Given the description of an element on the screen output the (x, y) to click on. 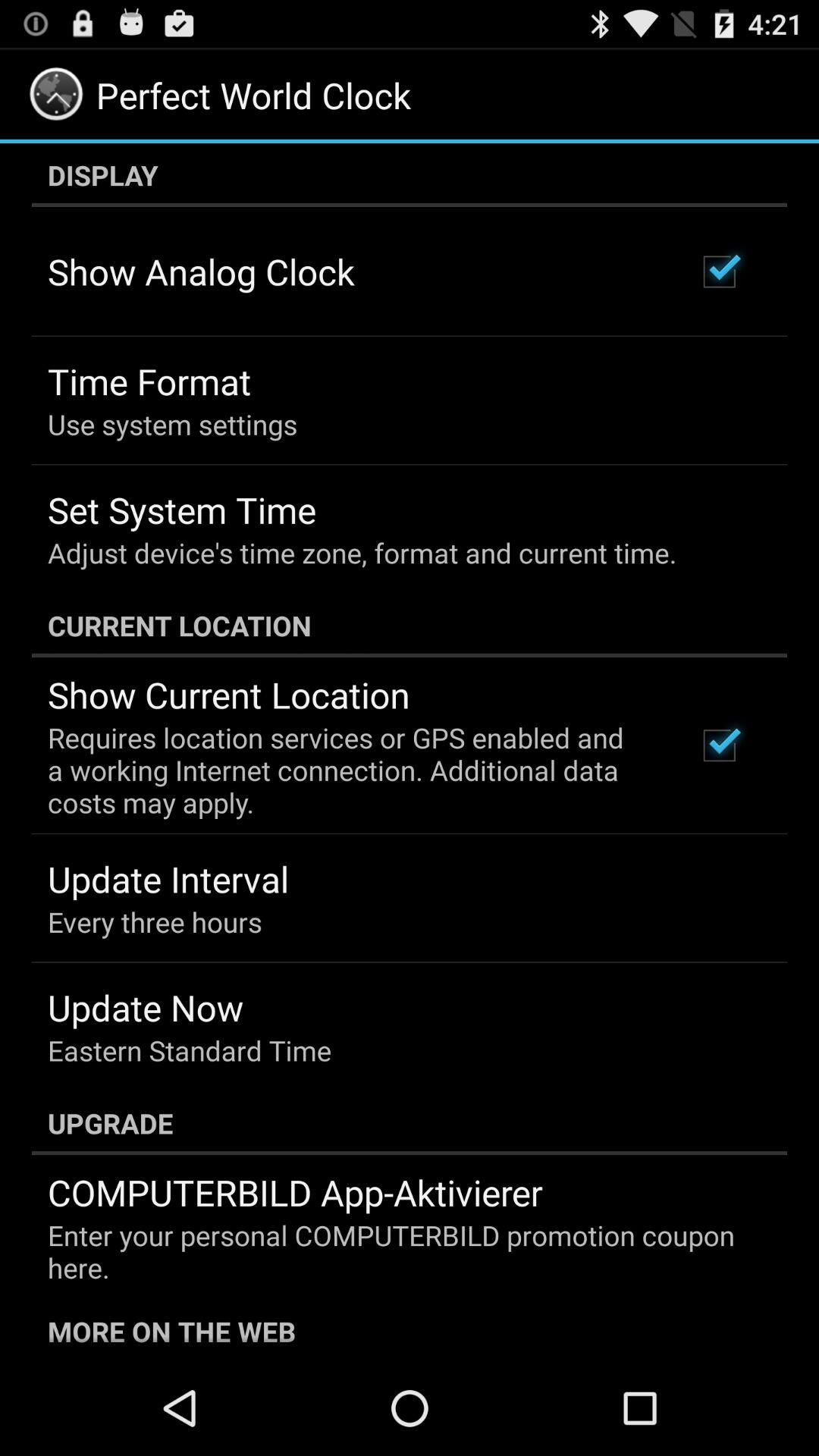
jump to the eastern standard time (189, 1050)
